Given the description of an element on the screen output the (x, y) to click on. 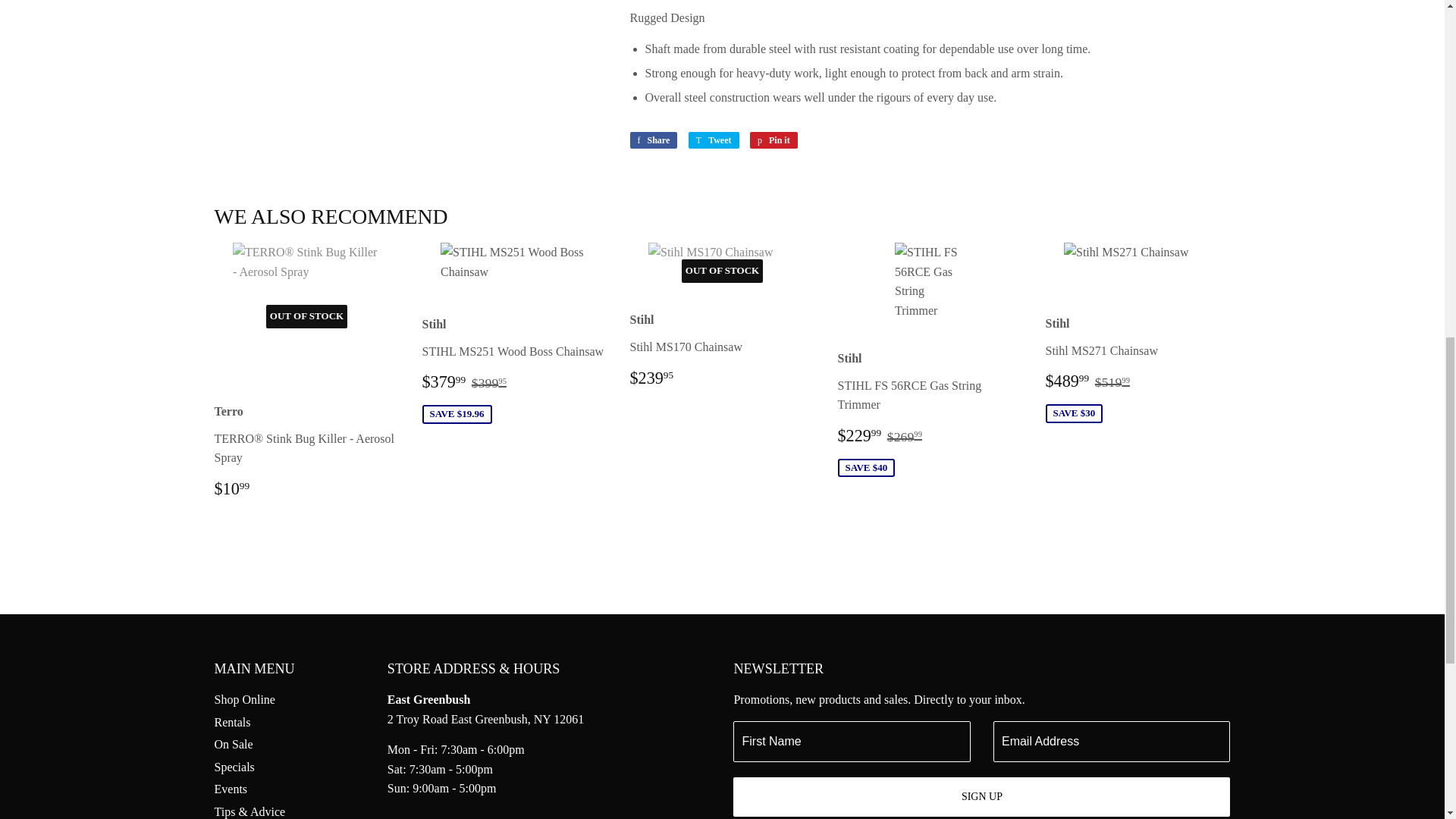
Share on Facebook (652, 139)
Tweet on Twitter (713, 139)
Pin on Pinterest (773, 139)
